Given the description of an element on the screen output the (x, y) to click on. 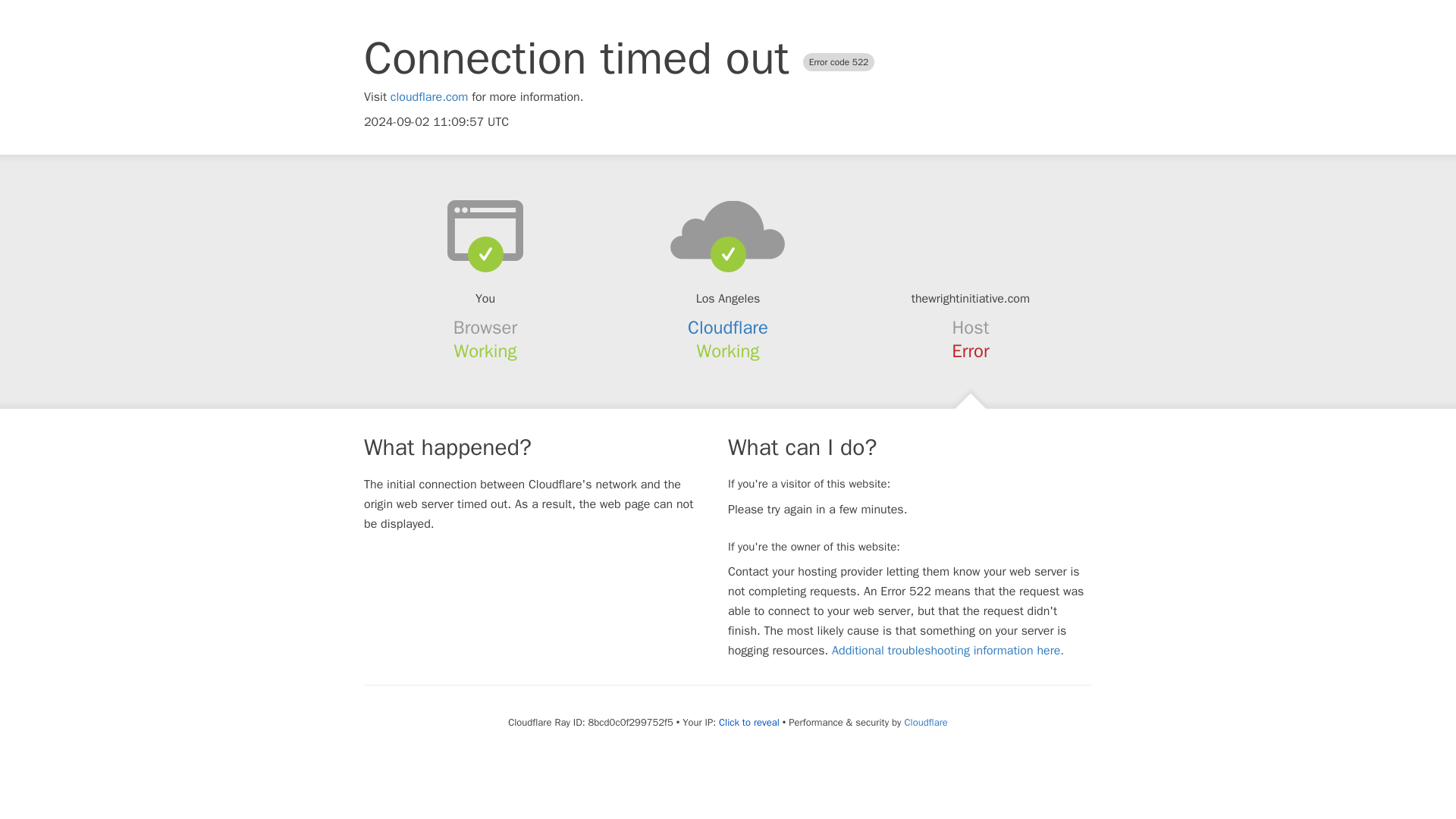
cloudflare.com (429, 96)
Cloudflare (727, 327)
Additional troubleshooting information here. (947, 650)
Click to reveal (748, 722)
Cloudflare (925, 721)
